Given the description of an element on the screen output the (x, y) to click on. 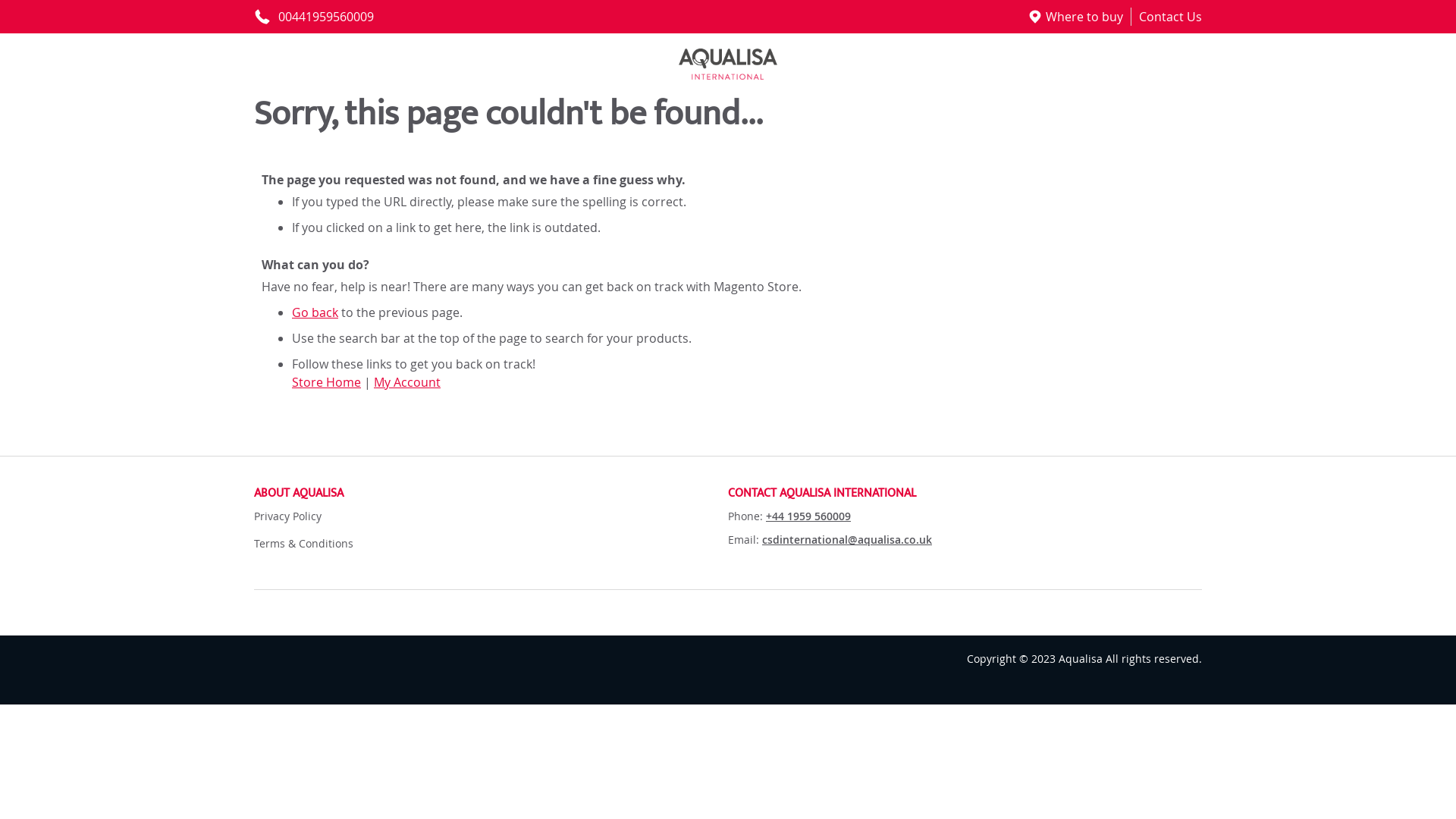
Store Home Element type: text (325, 381)
My Account Element type: text (406, 381)
+44 1959 560009 Element type: text (807, 516)
 Logo Element type: hover (727, 63)
Contact Us Element type: text (1170, 16)
Terms & Conditions Element type: text (303, 543)
Where to buy Element type: text (1084, 16)
Go back Element type: text (314, 312)
csdinternational@aqualisa.co.uk Element type: text (846, 539)
Privacy Policy Element type: text (287, 516)
00441959560009 Element type: text (313, 16)
